Given the description of an element on the screen output the (x, y) to click on. 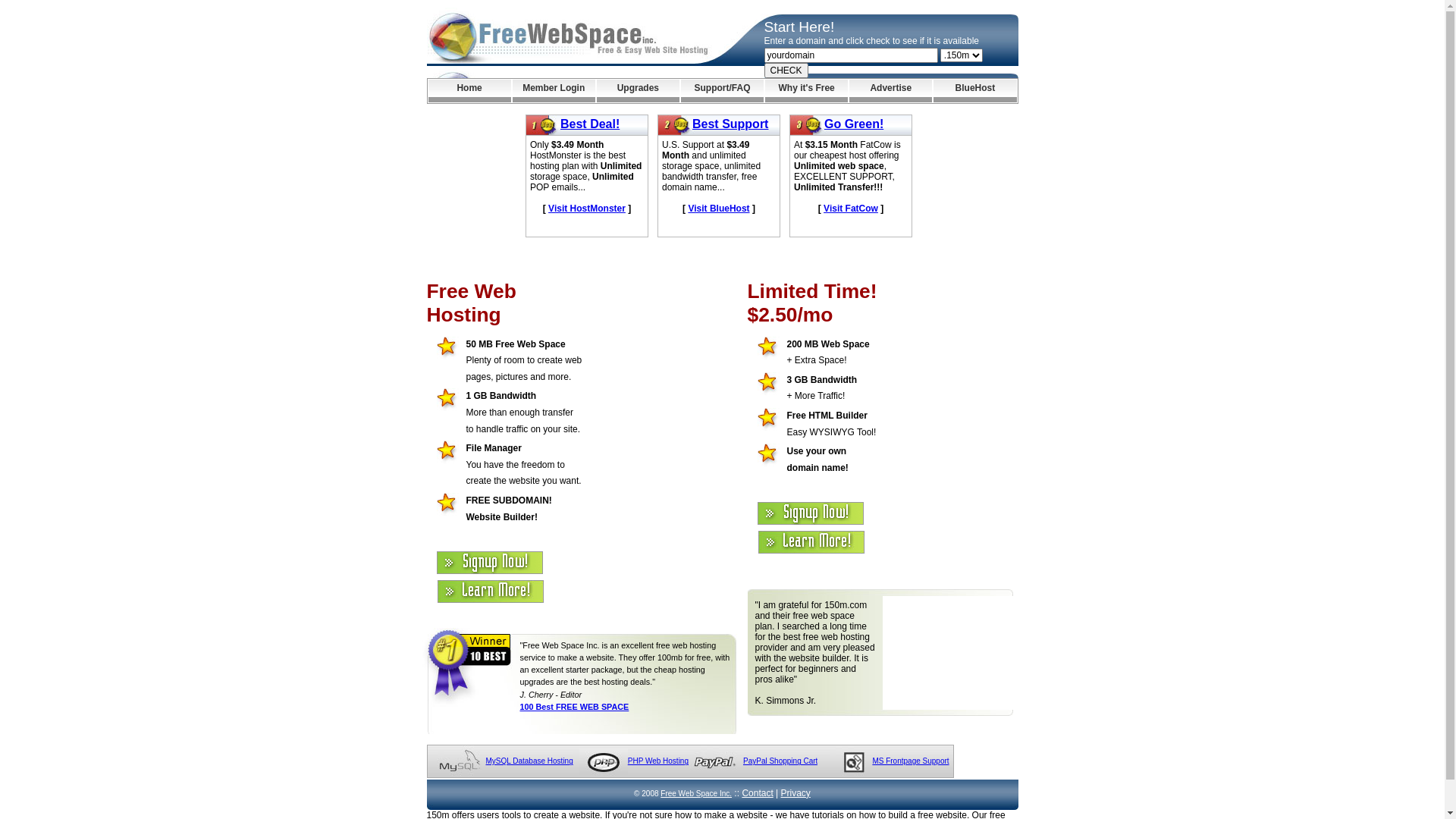
Home Element type: text (468, 90)
MS Frontpage Support Element type: text (910, 760)
Contact Element type: text (756, 792)
BlueHost Element type: text (974, 90)
Free Web Space Inc. Element type: text (695, 793)
MySQL Database Hosting Element type: text (528, 760)
Upgrades Element type: text (637, 90)
100 Best FREE WEB SPACE Element type: text (574, 706)
PayPal Shopping Cart Element type: text (780, 760)
Support/FAQ Element type: text (721, 90)
Member Login Element type: text (553, 90)
Advertise Element type: text (890, 90)
Privacy Element type: text (795, 792)
PHP Web Hosting Element type: text (657, 760)
CHECK Element type: text (786, 70)
Why it's Free Element type: text (806, 90)
